Given the description of an element on the screen output the (x, y) to click on. 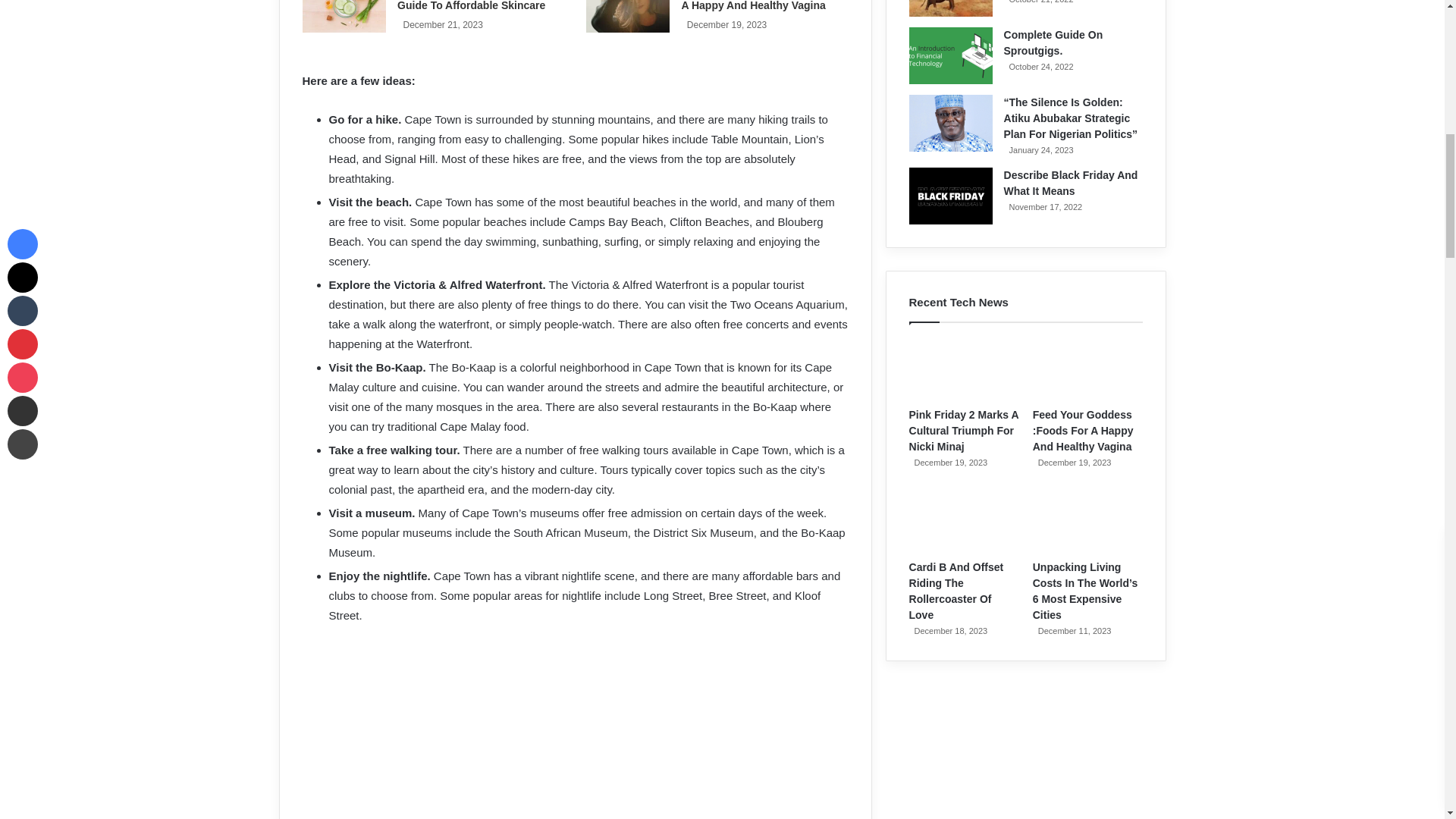
Glowing Skin On A Budget: Your Guide To Affordable Skincare (478, 5)
Feed Your Goddess :Foods for a Happy and Healthy Vagina 8 (627, 16)
Feed Your Goddess :Foods For A Happy And Healthy Vagina (759, 5)
Cape Town Experience the Magic on a Budget 2 (574, 729)
